Given the description of an element on the screen output the (x, y) to click on. 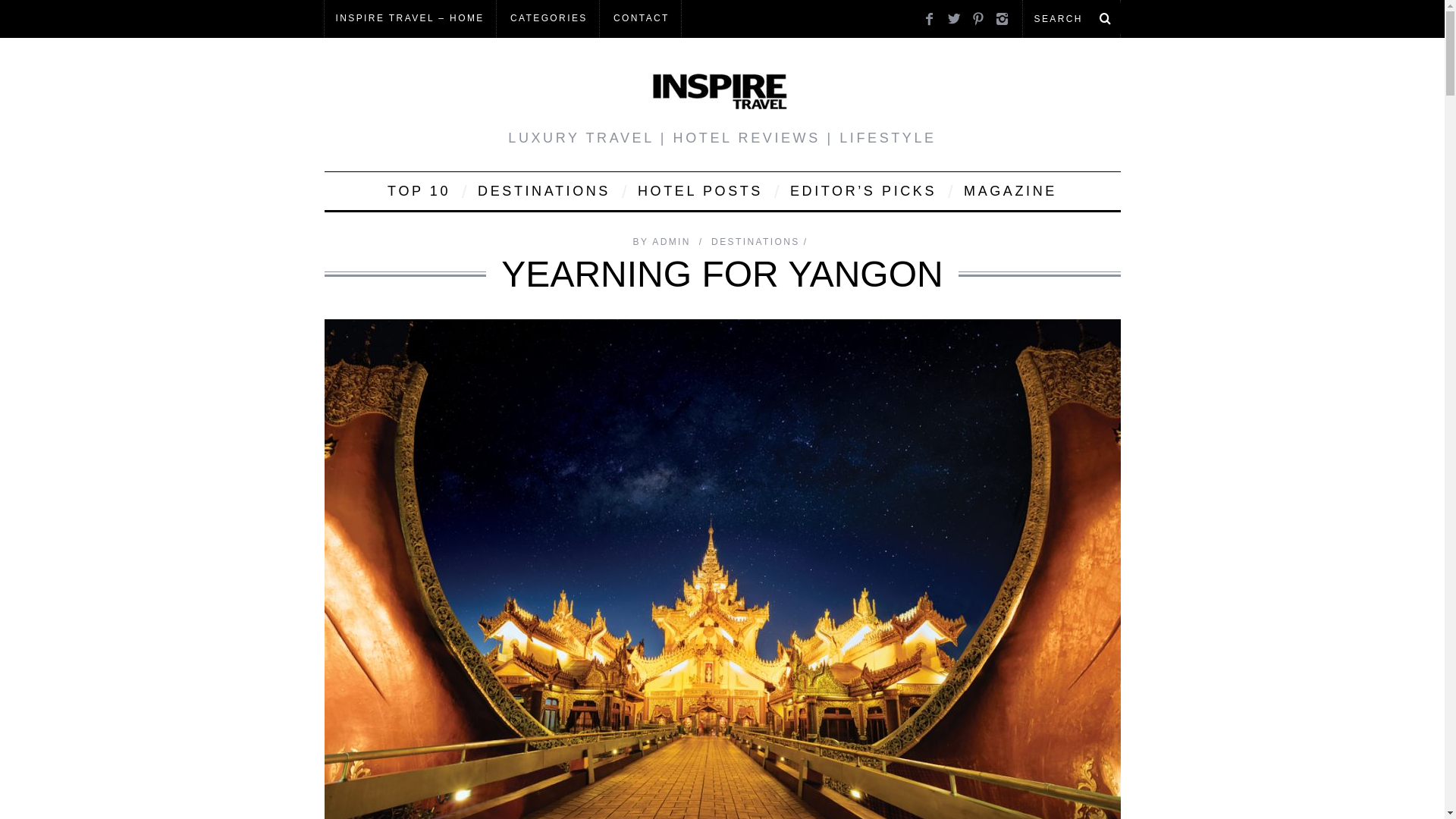
Search (1071, 18)
